Given the description of an element on the screen output the (x, y) to click on. 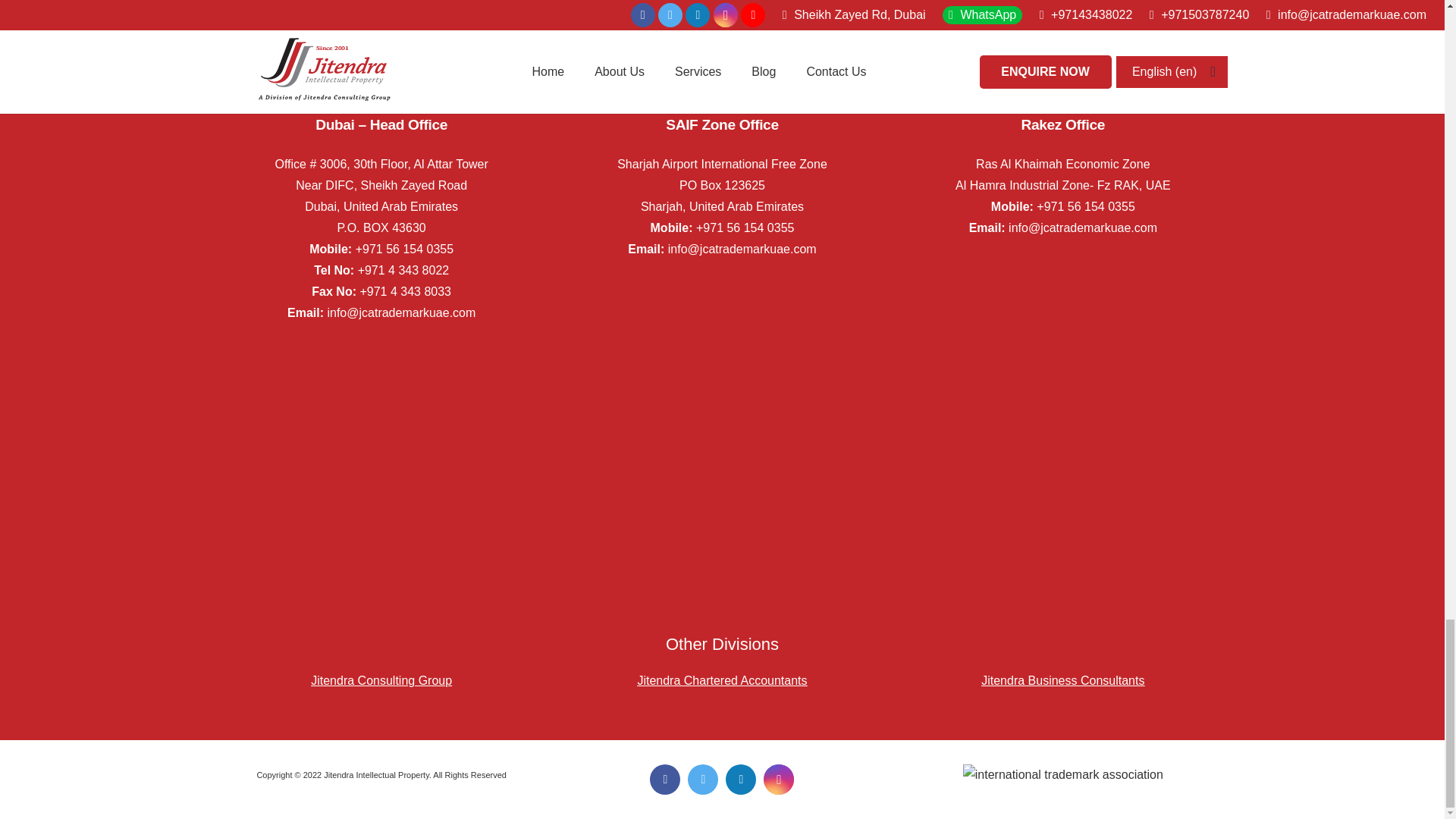
Facebook (664, 779)
Twitter (702, 779)
LinkedIn (740, 779)
Instagram (777, 779)
